Given the description of an element on the screen output the (x, y) to click on. 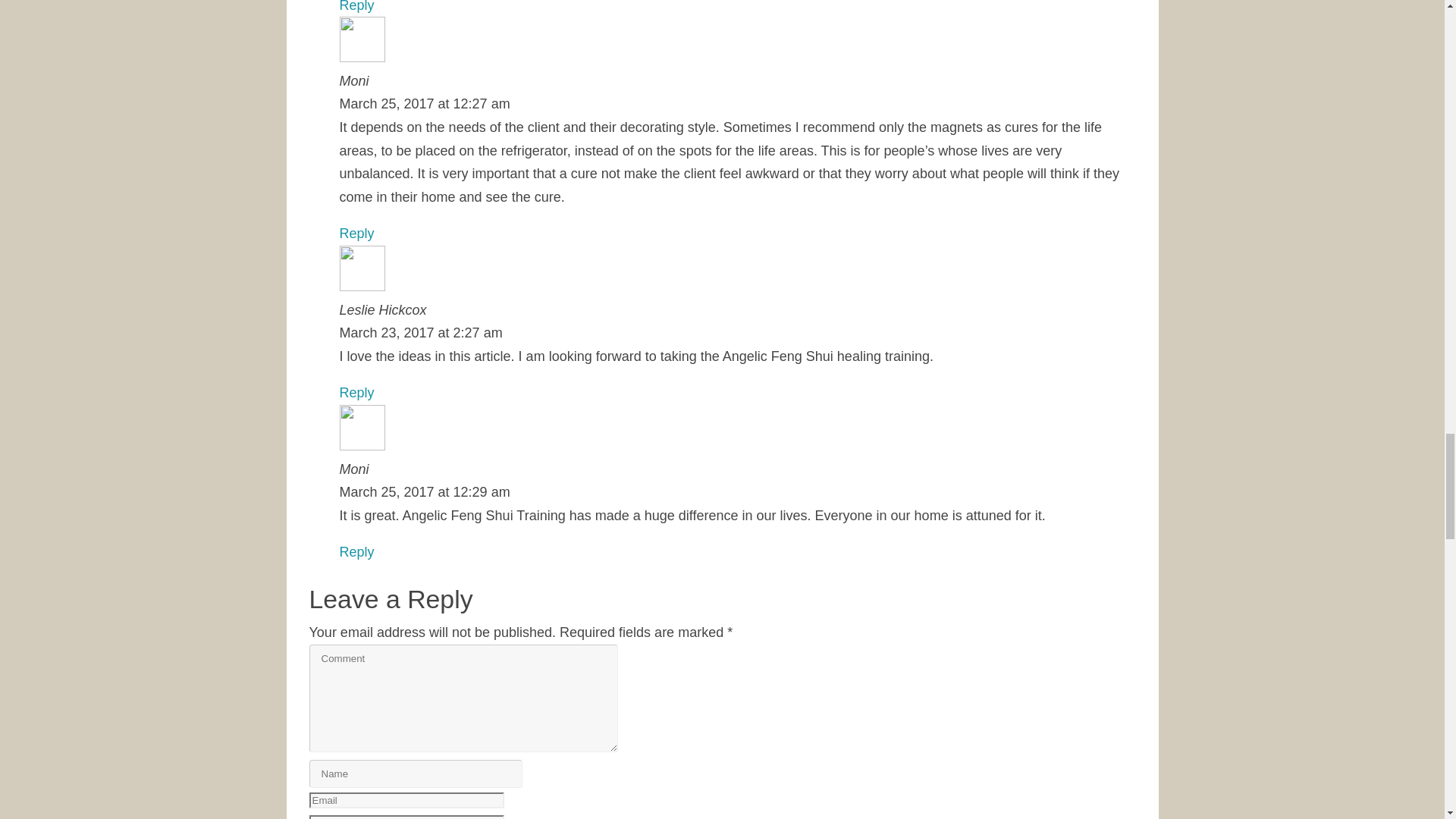
Reply (356, 233)
March 25, 2017 at 12:27 am (425, 103)
Reply (356, 6)
March 23, 2017 at 2:27 am (420, 332)
